Given the description of an element on the screen output the (x, y) to click on. 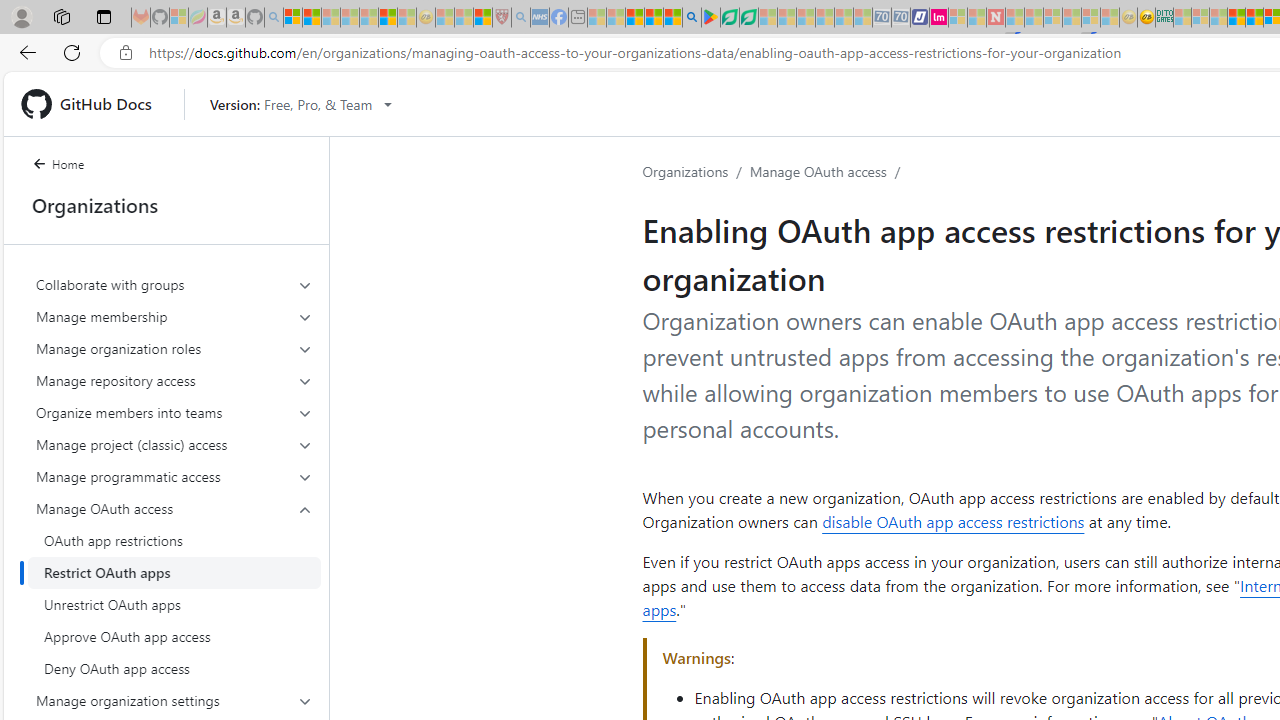
Microsoft Word - consumer-privacy address update 2.2021 (748, 17)
Manage organization roles (174, 348)
Manage project (classic) access (174, 444)
OAuth app restrictions (174, 540)
Deny OAuth app access (174, 668)
Collaborate with groups (174, 284)
